Given the description of an element on the screen output the (x, y) to click on. 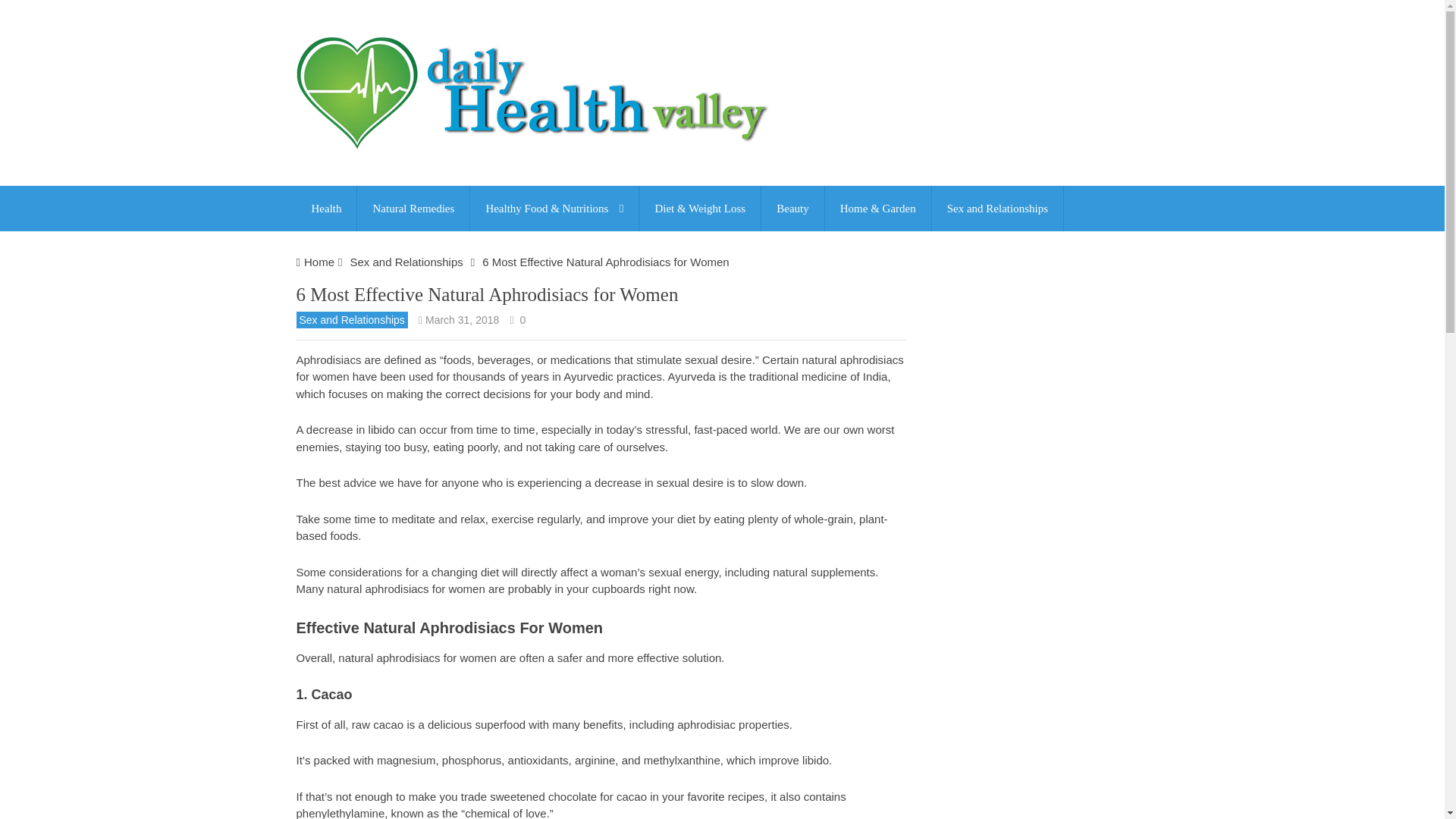
Home (319, 261)
Health (325, 207)
0 (522, 319)
Sex and Relationships (406, 261)
Sex and Relationships (996, 207)
Beauty (792, 207)
Natural Remedies (412, 207)
View all posts in Sex and Relationships (351, 320)
Sex and Relationships (351, 320)
